Given the description of an element on the screen output the (x, y) to click on. 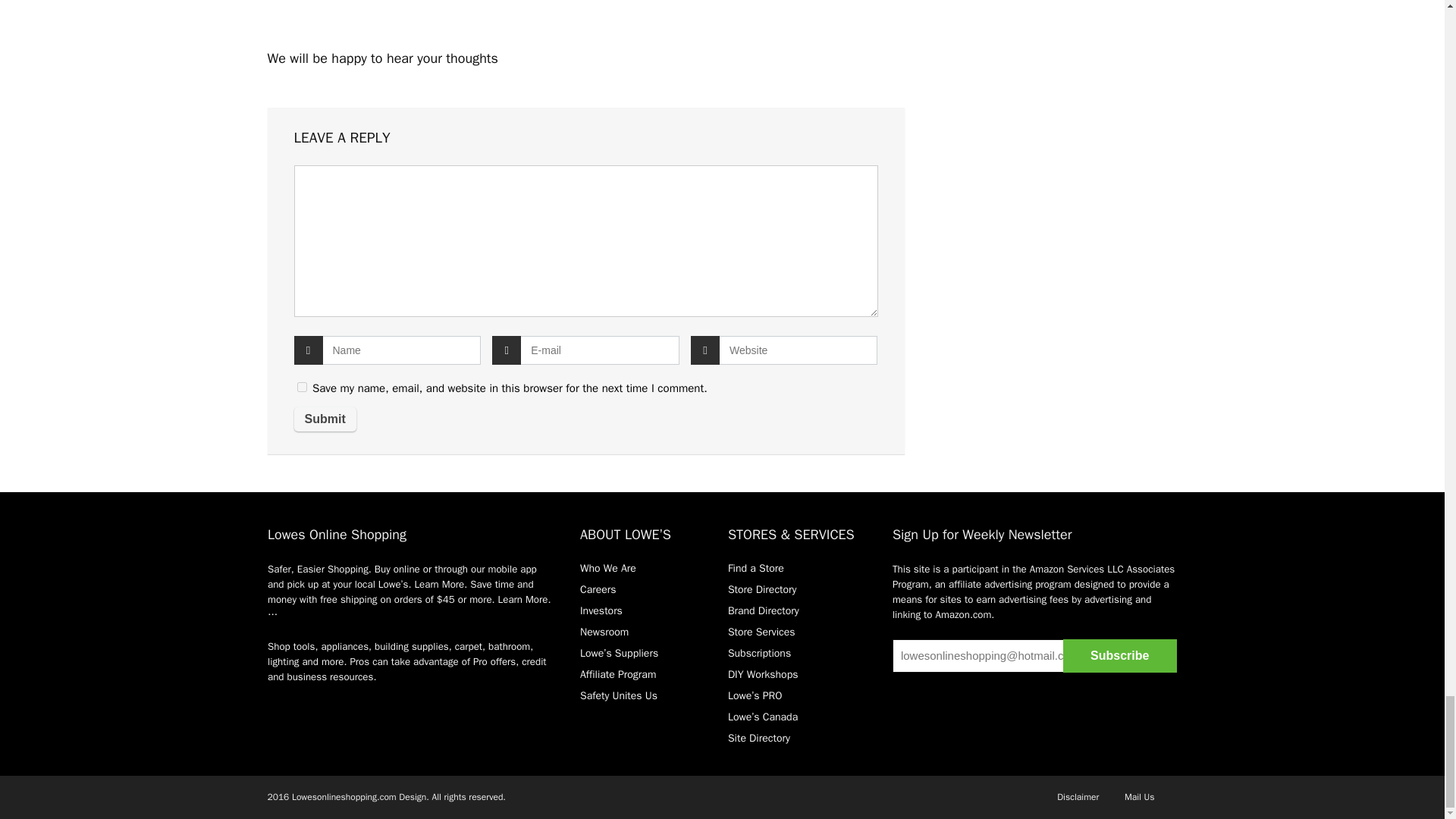
Subscribe (1119, 655)
Submit (325, 419)
Submit (325, 419)
yes (302, 387)
